Given the description of an element on the screen output the (x, y) to click on. 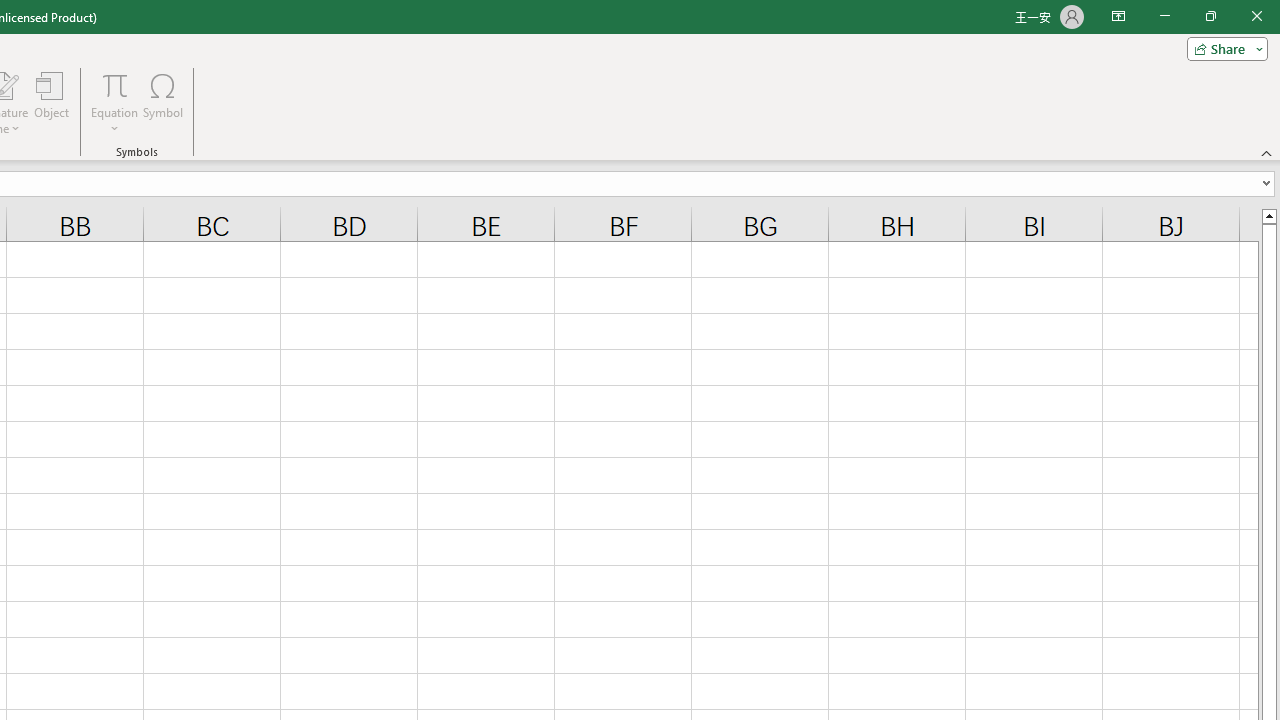
Symbol... (162, 102)
Equation (114, 84)
Object... (51, 102)
Equation (114, 102)
Restore Down (1210, 16)
